Given the description of an element on the screen output the (x, y) to click on. 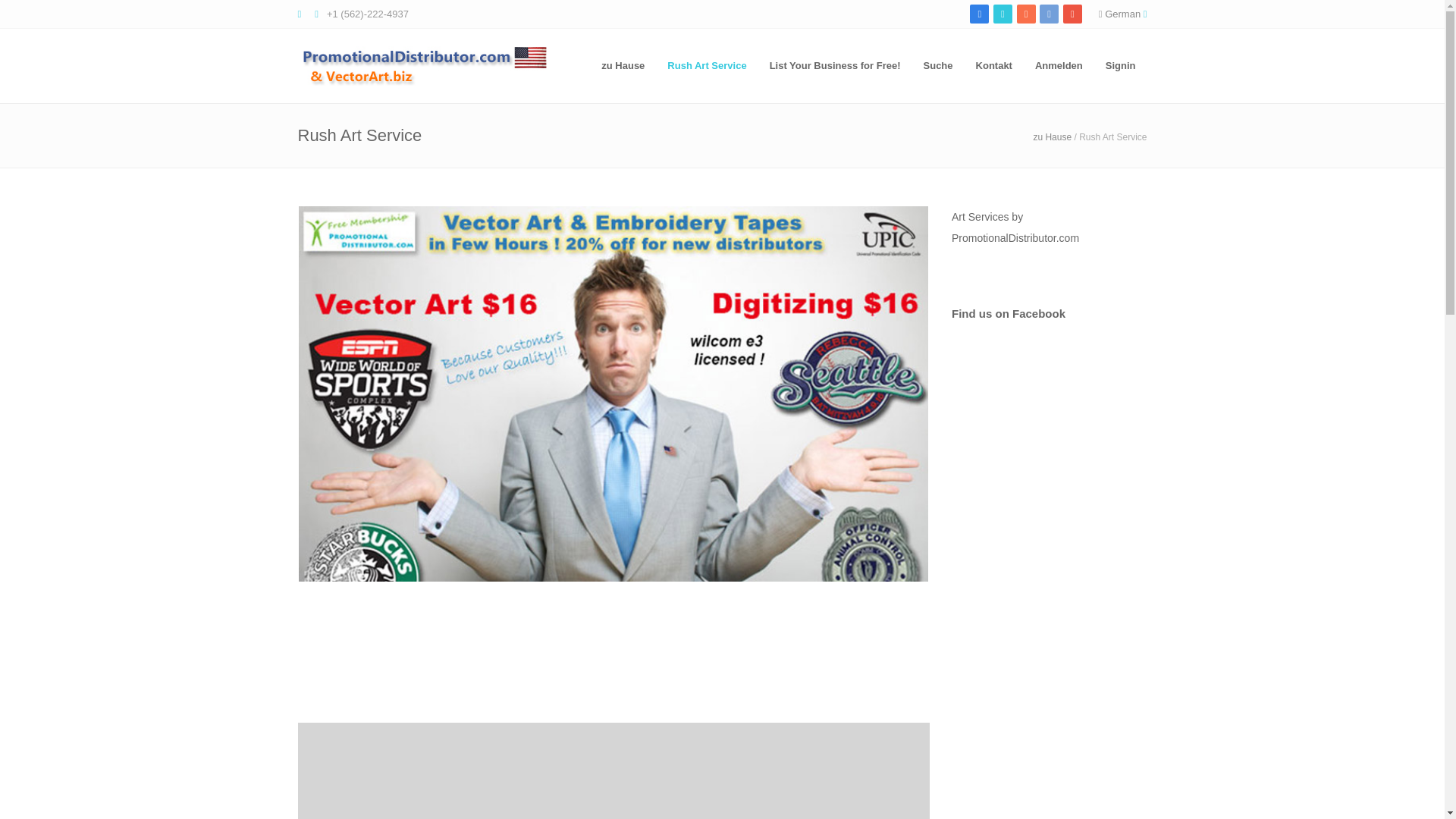
German (1123, 13)
Signin (1120, 65)
zu Hause (622, 65)
Art Work Service Form (612, 770)
List Your Business for Free! (835, 65)
Anmelden (1058, 65)
zu Hause (1051, 136)
Kontakt (993, 65)
Suche (937, 65)
Rush Art Service (706, 65)
